Given the description of an element on the screen output the (x, y) to click on. 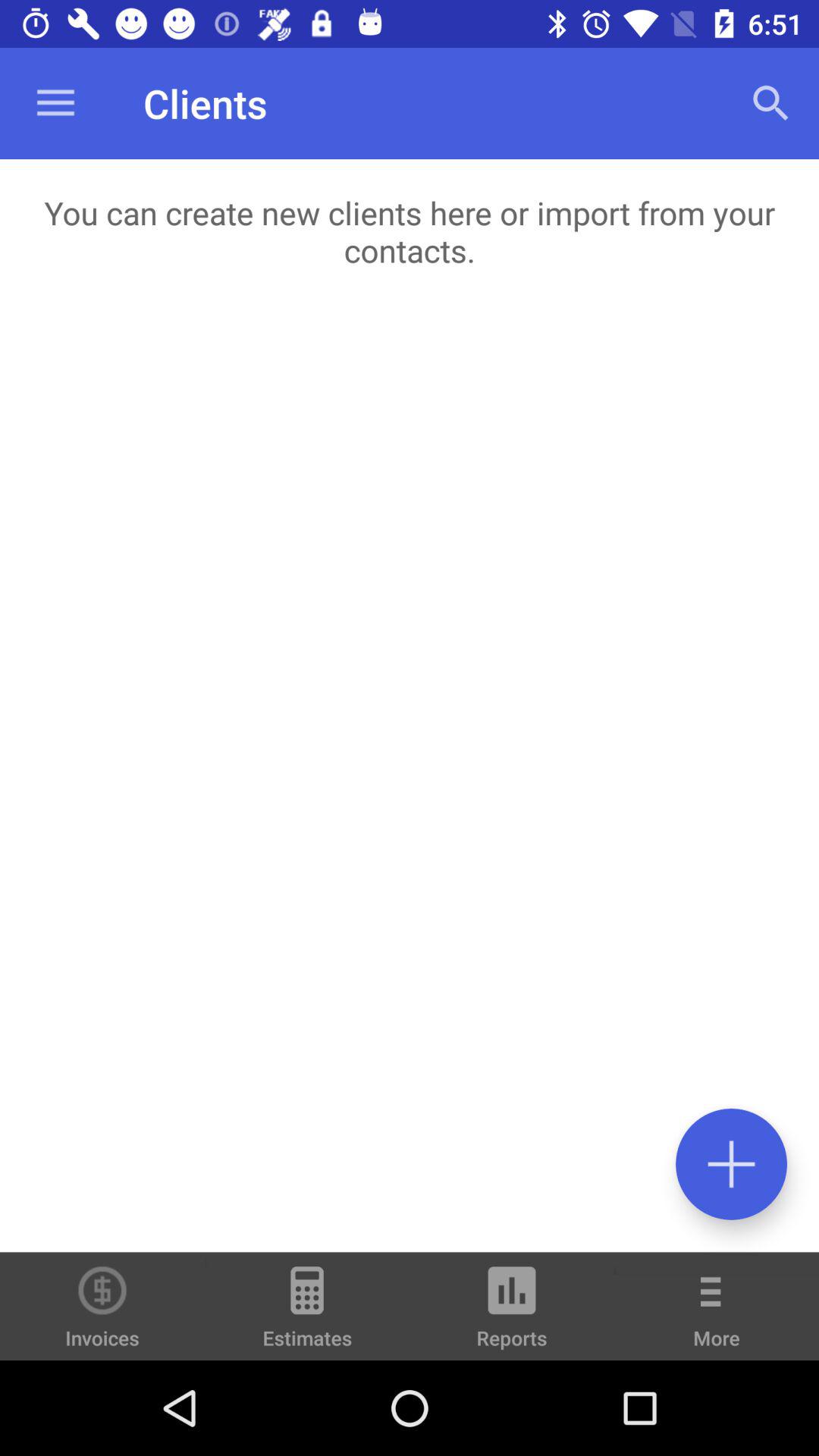
tap the item below you can create (409, 777)
